Given the description of an element on the screen output the (x, y) to click on. 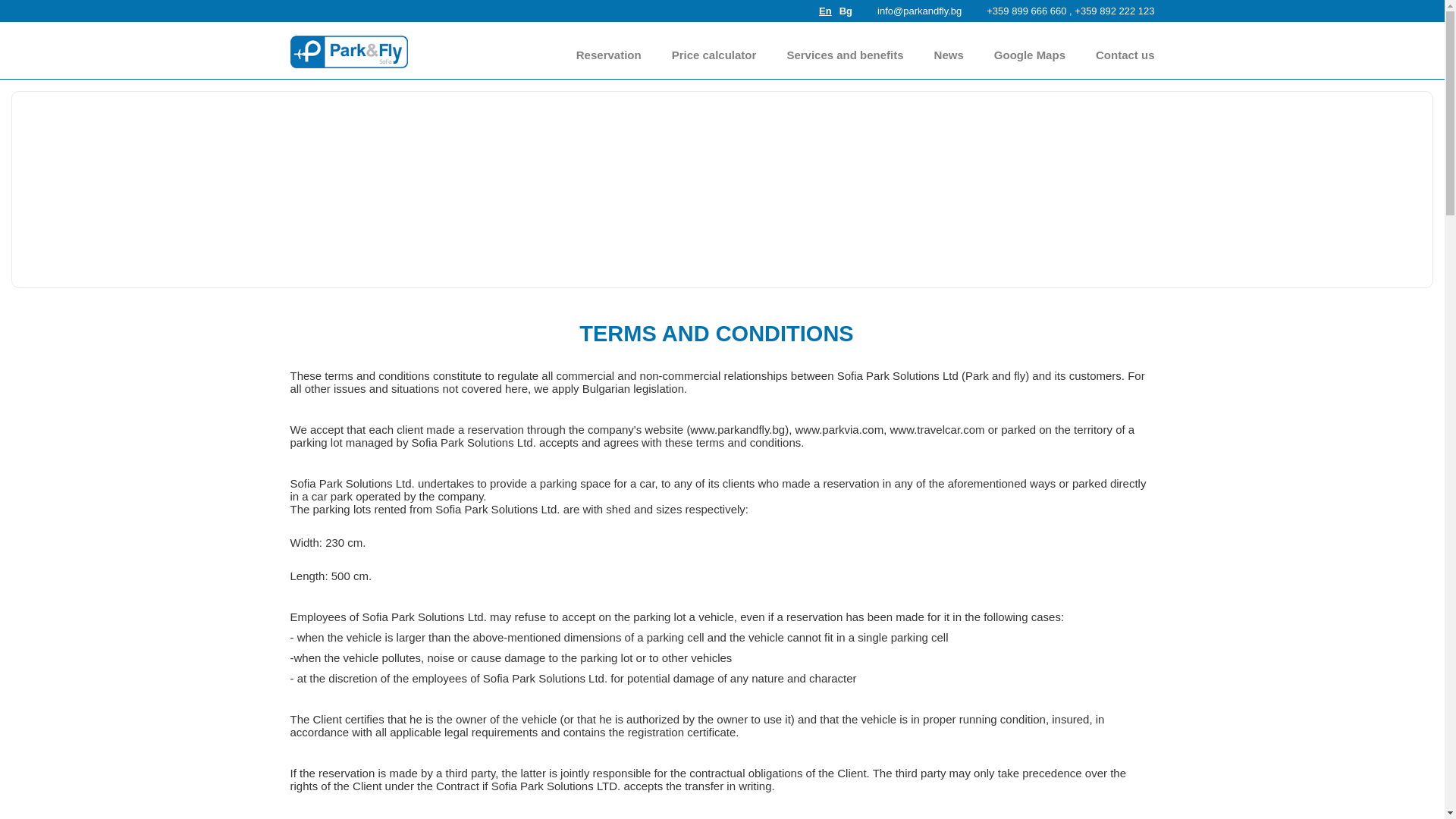
News (948, 54)
Reservation (609, 54)
Price calculator (714, 54)
Services and benefits (844, 54)
Contact us (1125, 54)
Google Maps (1029, 54)
